Given the description of an element on the screen output the (x, y) to click on. 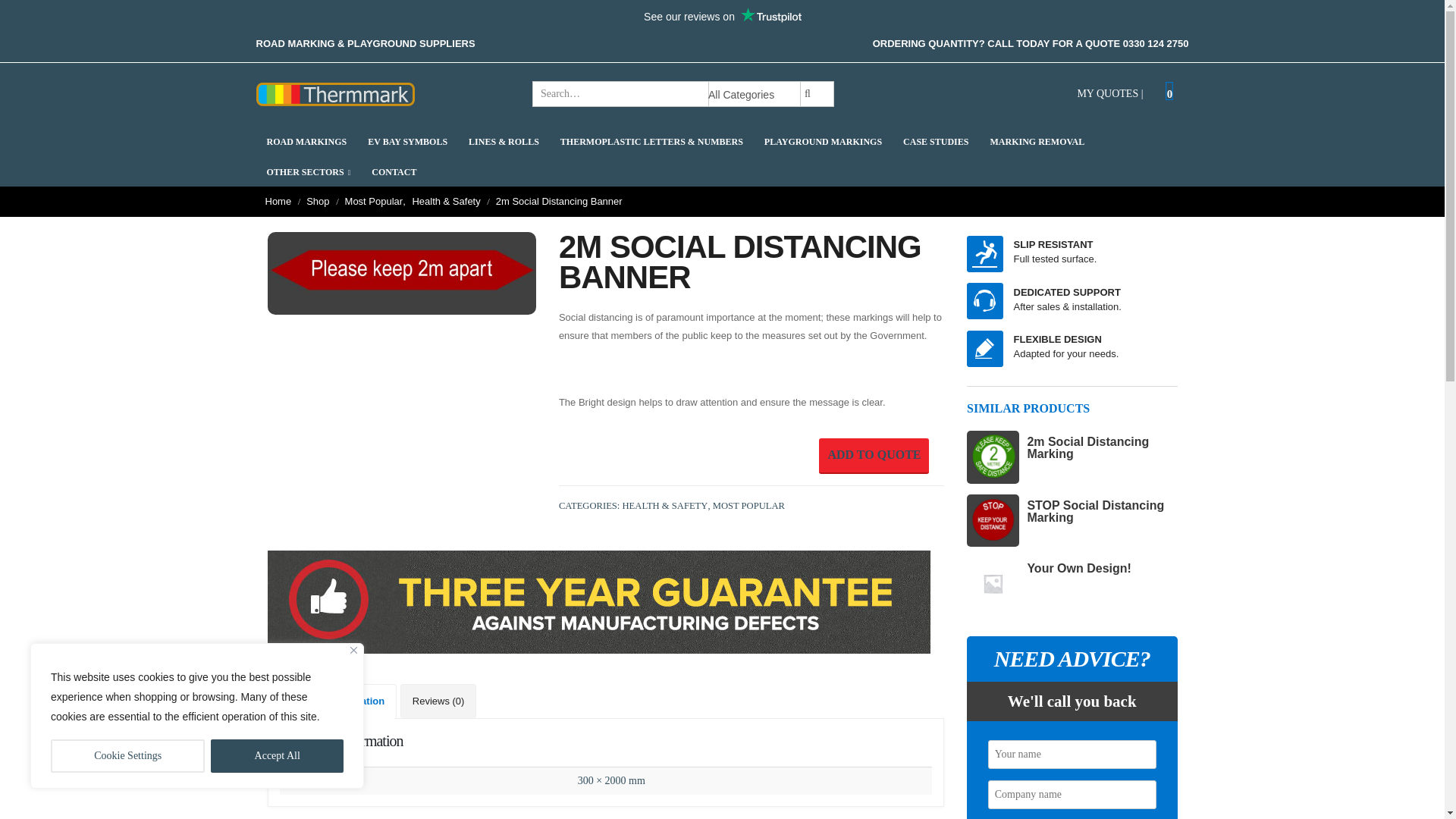
Accept All (277, 756)
Search (807, 93)
Shop (317, 201)
ROAD MARKINGS (306, 141)
ADD TO QUOTE (873, 456)
MARKING REMOVAL (1036, 141)
OTHER SECTORS (307, 171)
0330 124 2750 (1155, 43)
Most Popular (374, 201)
0 (1169, 90)
EV BAY SYMBOLS (407, 141)
CONTACT (393, 171)
CASE STUDIES (935, 141)
Cookie Settings (127, 756)
Customer reviews powered by Trustpilot (722, 16)
